Given the description of an element on the screen output the (x, y) to click on. 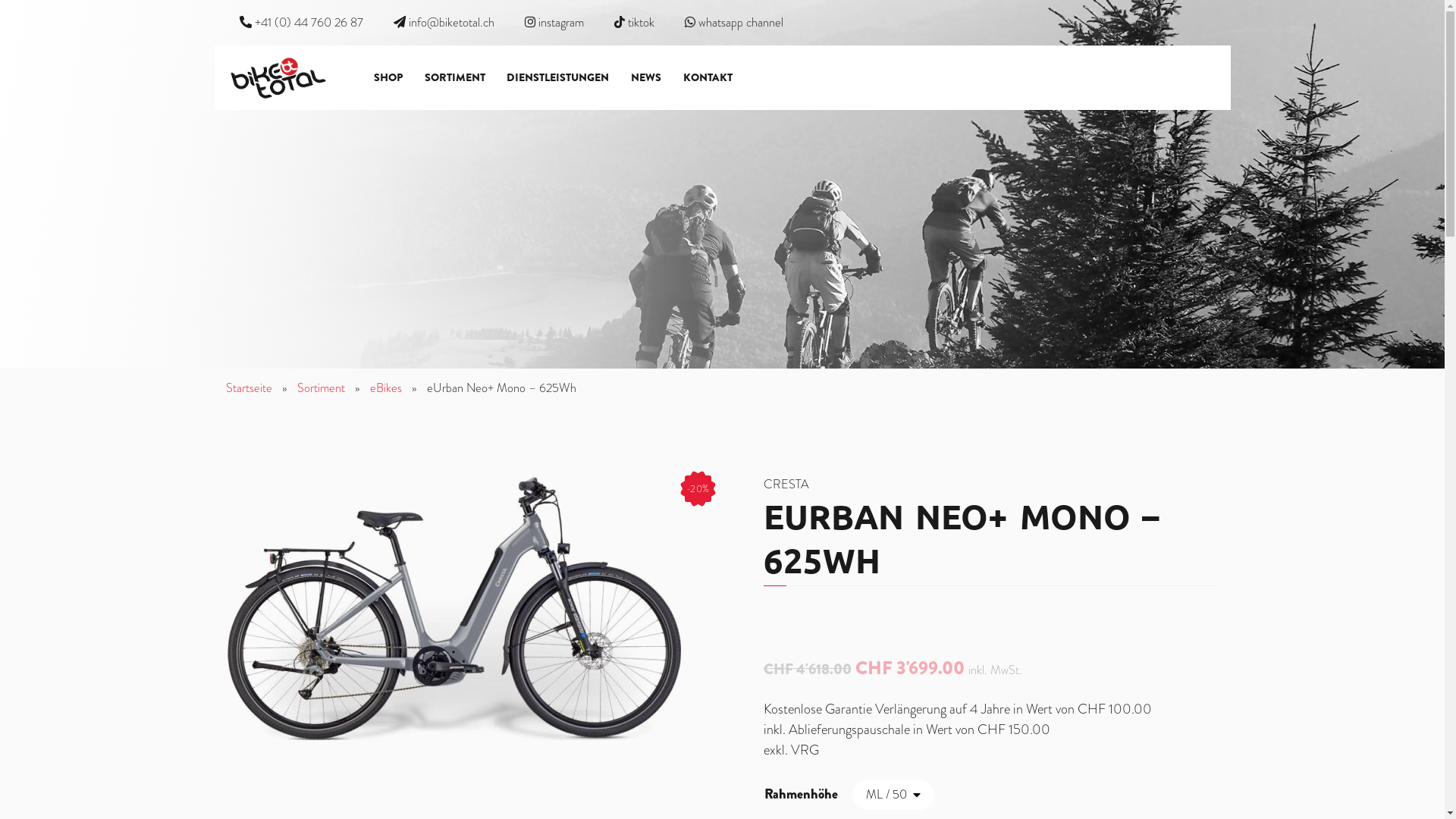
Sortiment Element type: text (321, 387)
info@biketotal.ch Element type: text (450, 22)
whatsapp channel Element type: text (733, 22)
instagram Element type: text (553, 22)
KONTAKT Element type: text (707, 77)
NEWS Element type: text (645, 77)
eBikes Element type: text (385, 387)
tiktok Element type: text (634, 22)
SHOP Element type: text (387, 77)
DIENSTLEISTUNGEN Element type: text (557, 77)
SORTIMENT Element type: text (454, 77)
Startseite Element type: text (248, 387)
2785_ed4540cbca7565a23d5c30d3cbad9c65224c56e40d66_(2) Element type: hover (452, 607)
